Given the description of an element on the screen output the (x, y) to click on. 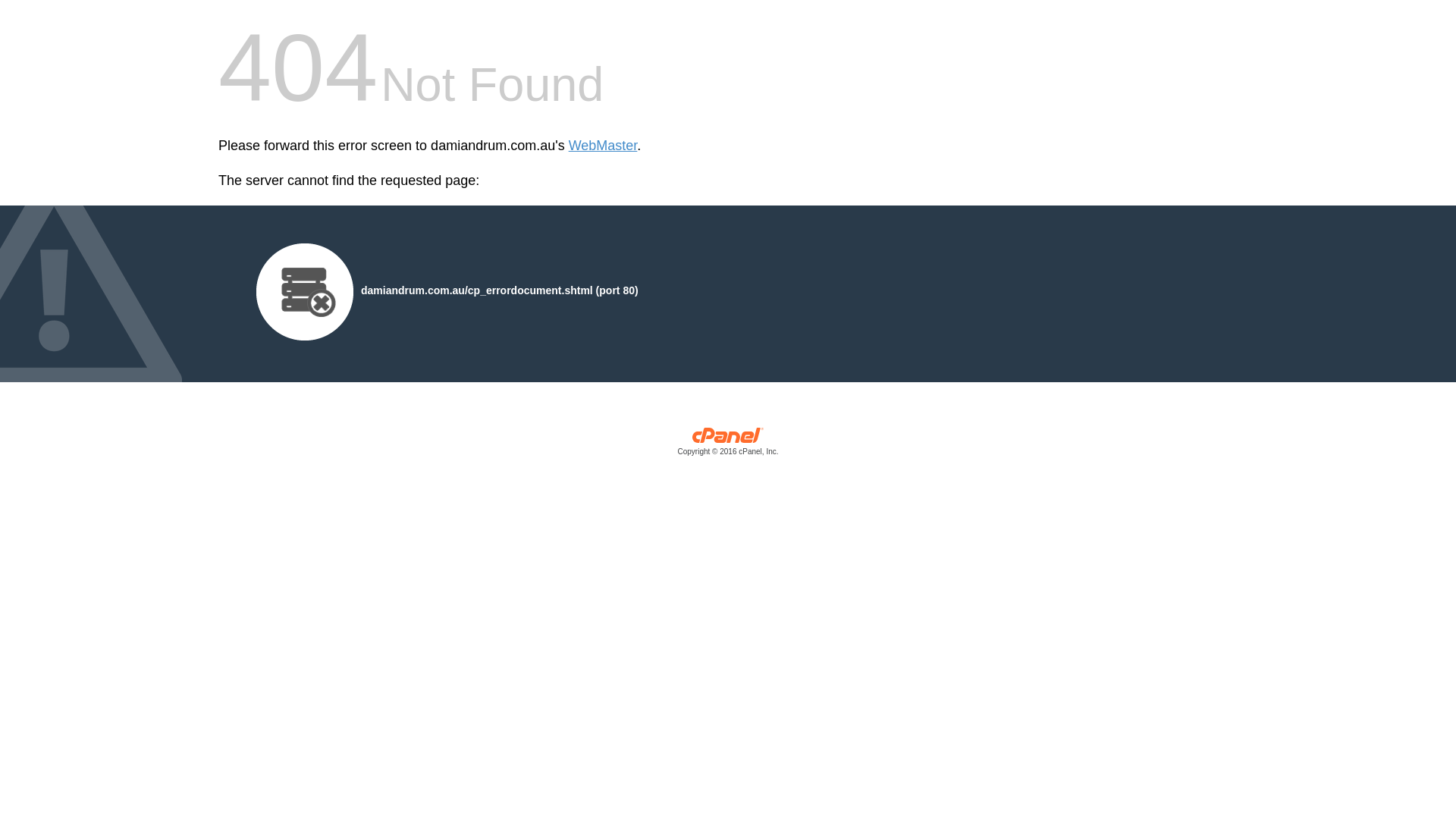
WebMaster Element type: text (602, 145)
